Given the description of an element on the screen output the (x, y) to click on. 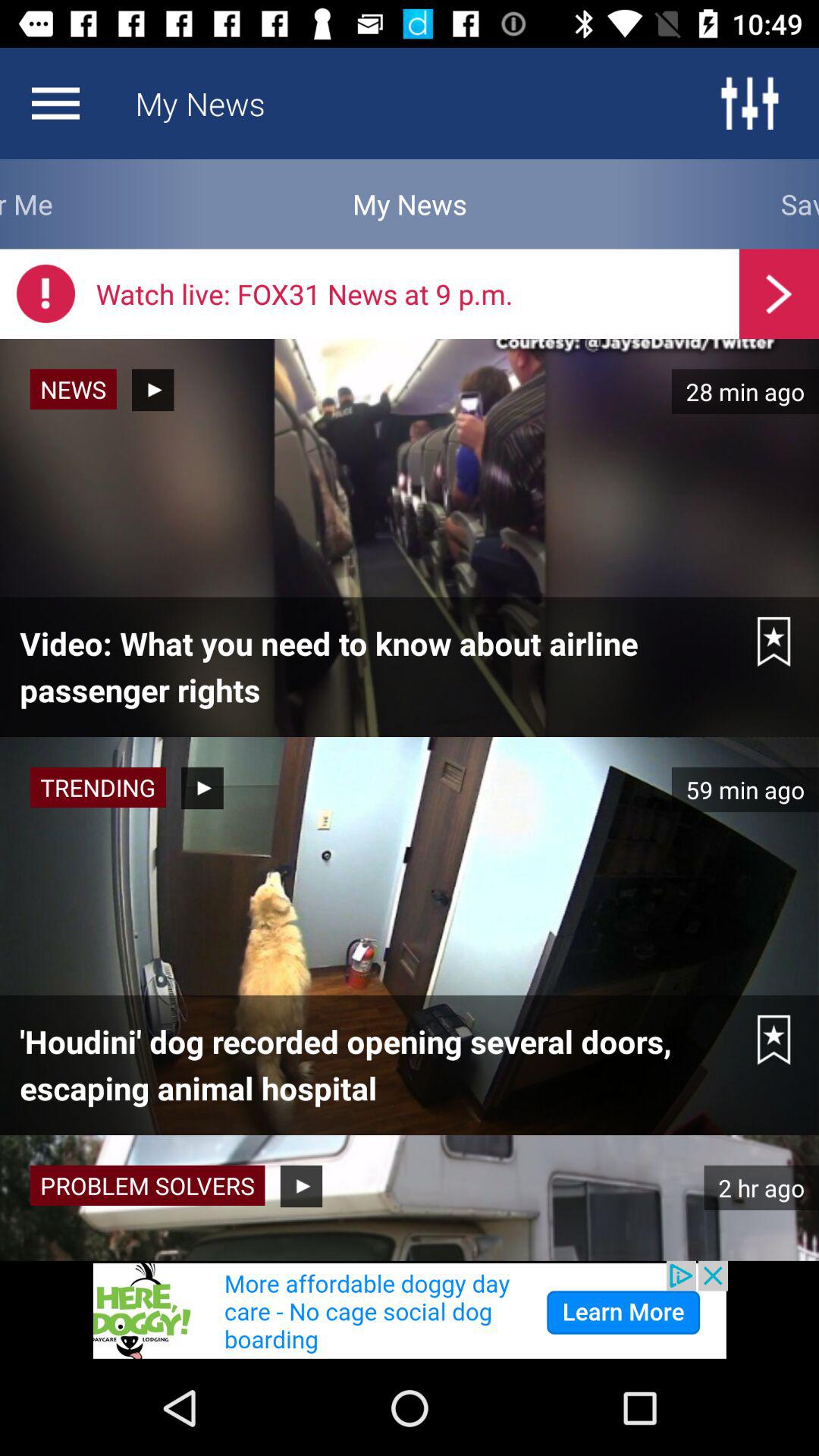
settings (749, 102)
